Given the description of an element on the screen output the (x, y) to click on. 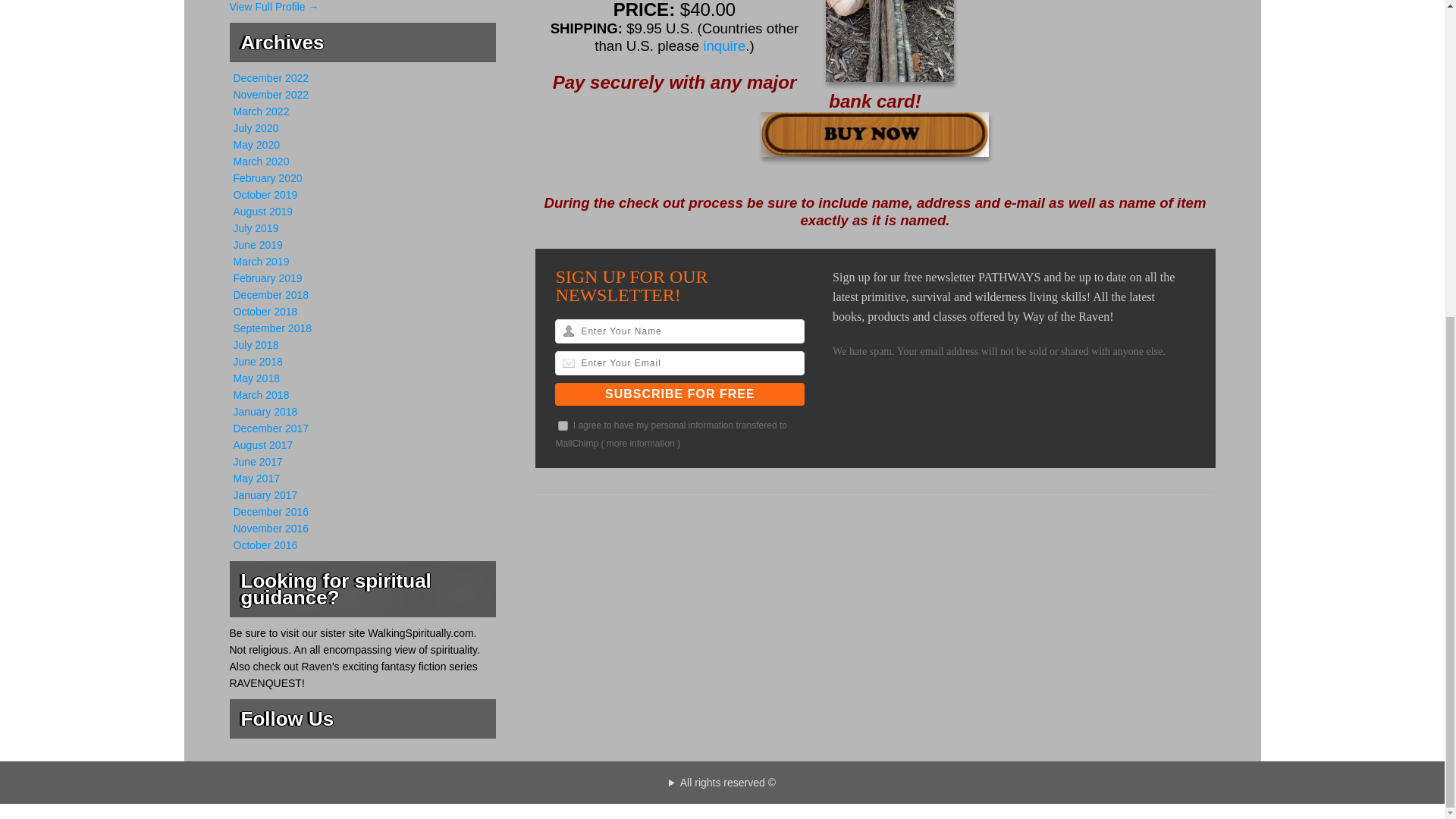
August 2019 (263, 211)
on (562, 425)
May 2018 (255, 378)
December 2018 (270, 295)
October 2019 (265, 194)
February 2019 (267, 277)
June 2019 (257, 244)
July 2019 (255, 227)
June 2018 (257, 361)
July 2020 (255, 128)
November 2022 (270, 94)
SUBSCRIBE FOR FREE (679, 394)
more information (641, 443)
October 2018 (265, 311)
December 2022 (270, 78)
